Given the description of an element on the screen output the (x, y) to click on. 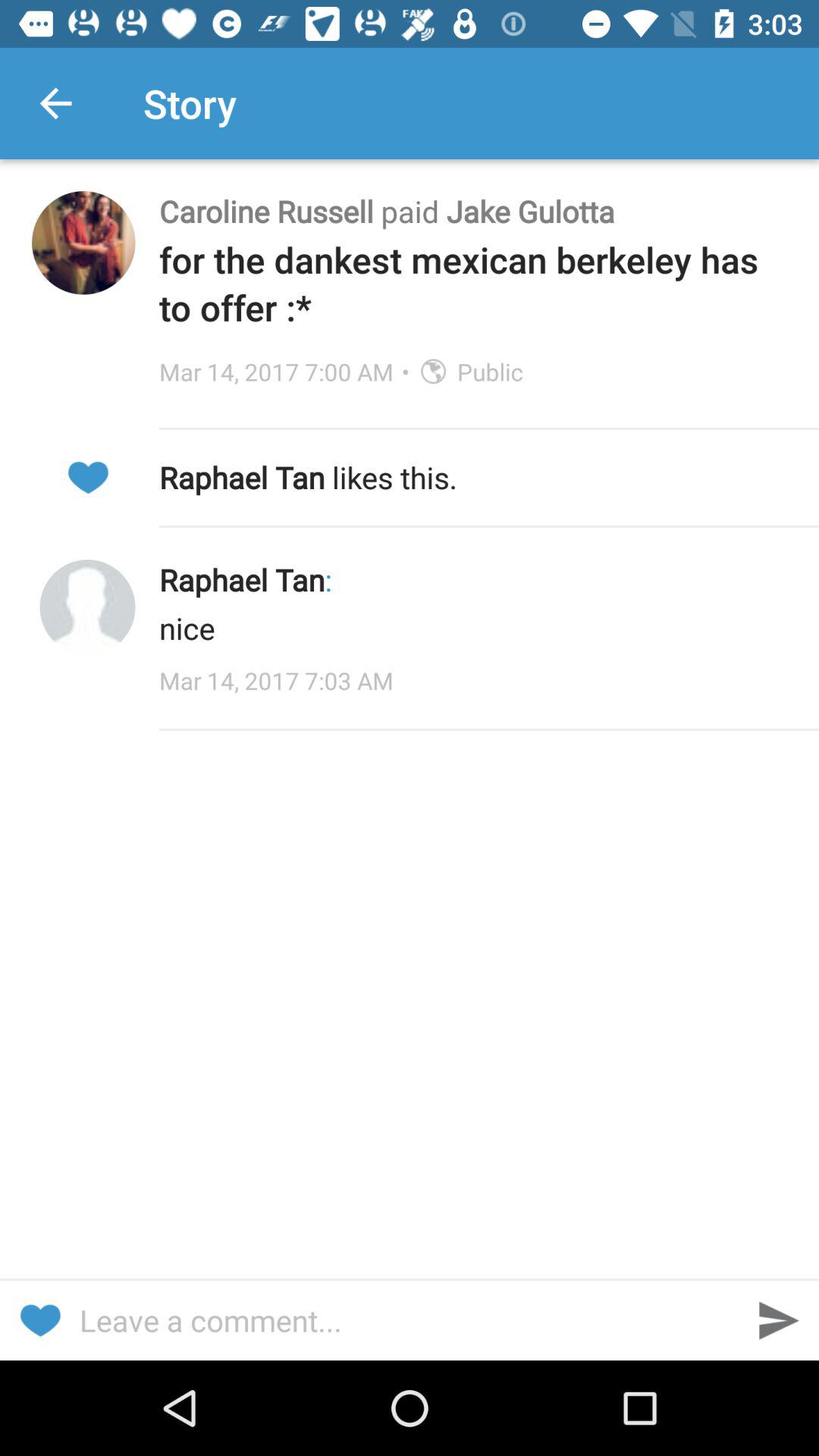
add comments (409, 1320)
